Given the description of an element on the screen output the (x, y) to click on. 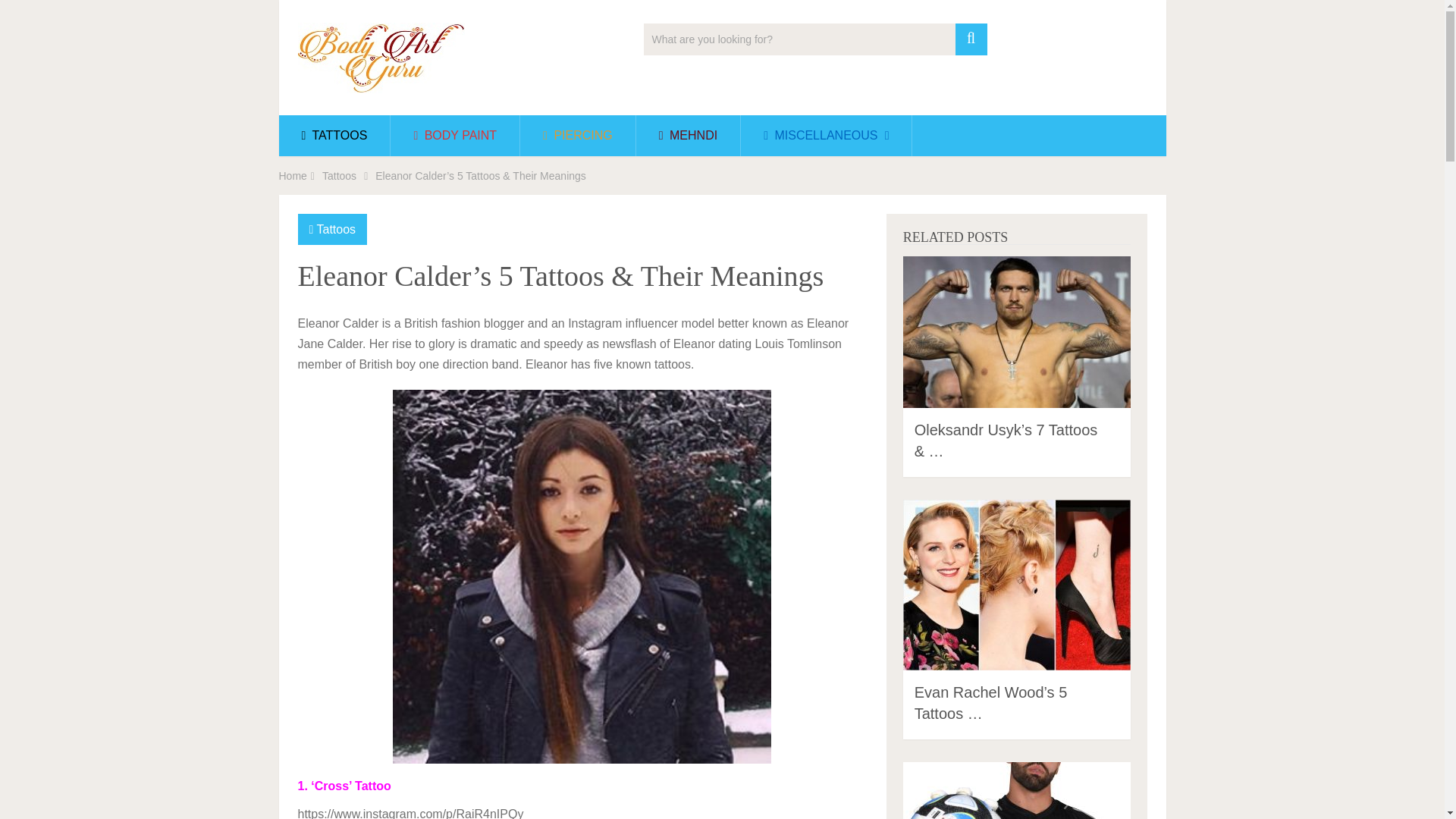
PIERCING (576, 135)
Home (293, 175)
TATTOOS (334, 135)
View all posts in Tattoos (336, 228)
MISCELLANEOUS (826, 135)
Tattoos (338, 175)
Tattoos (336, 228)
MEHNDI (687, 135)
BODY PAINT (454, 135)
